Given the description of an element on the screen output the (x, y) to click on. 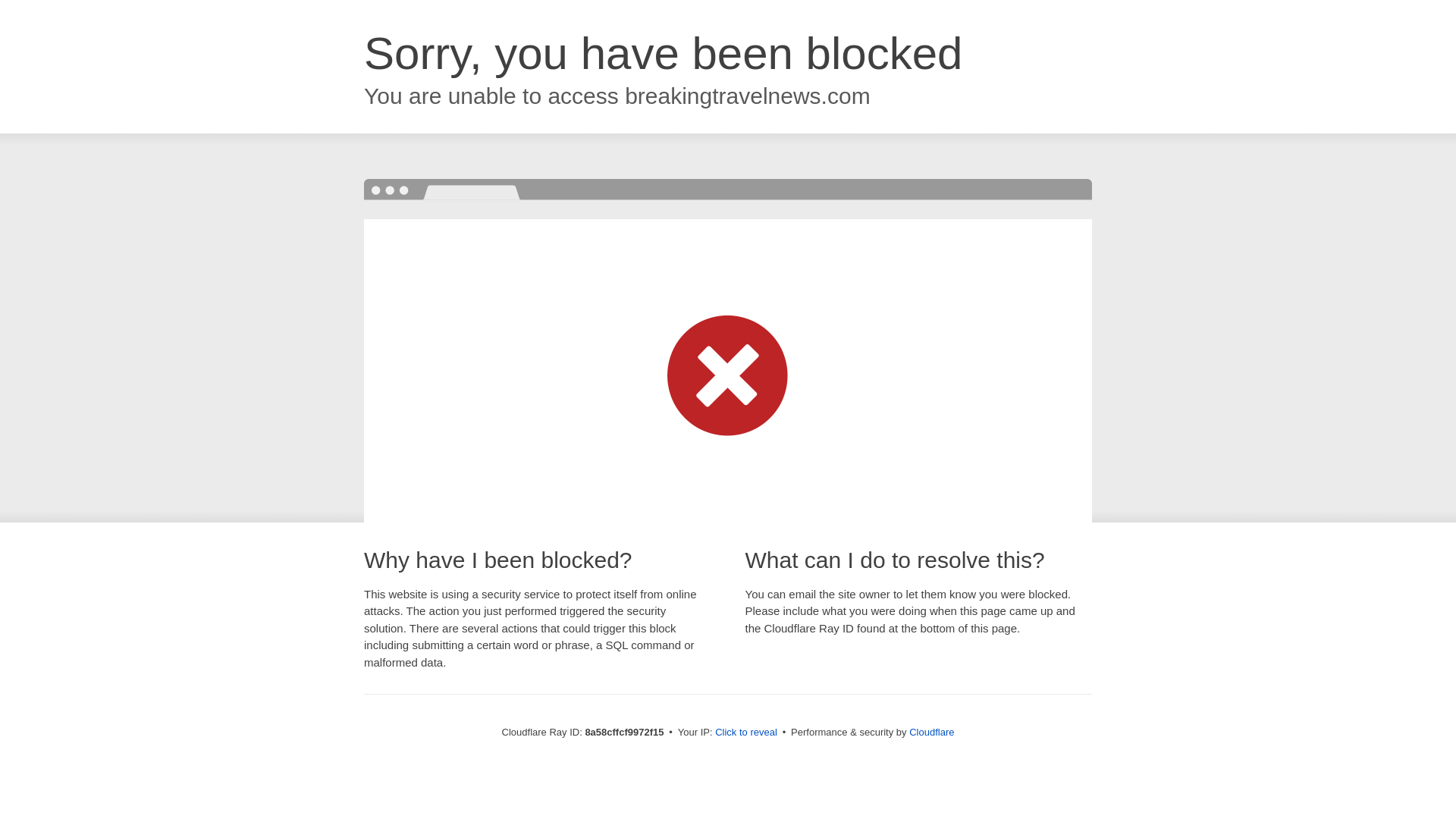
Click to reveal (745, 732)
Cloudflare (930, 731)
